Given the description of an element on the screen output the (x, y) to click on. 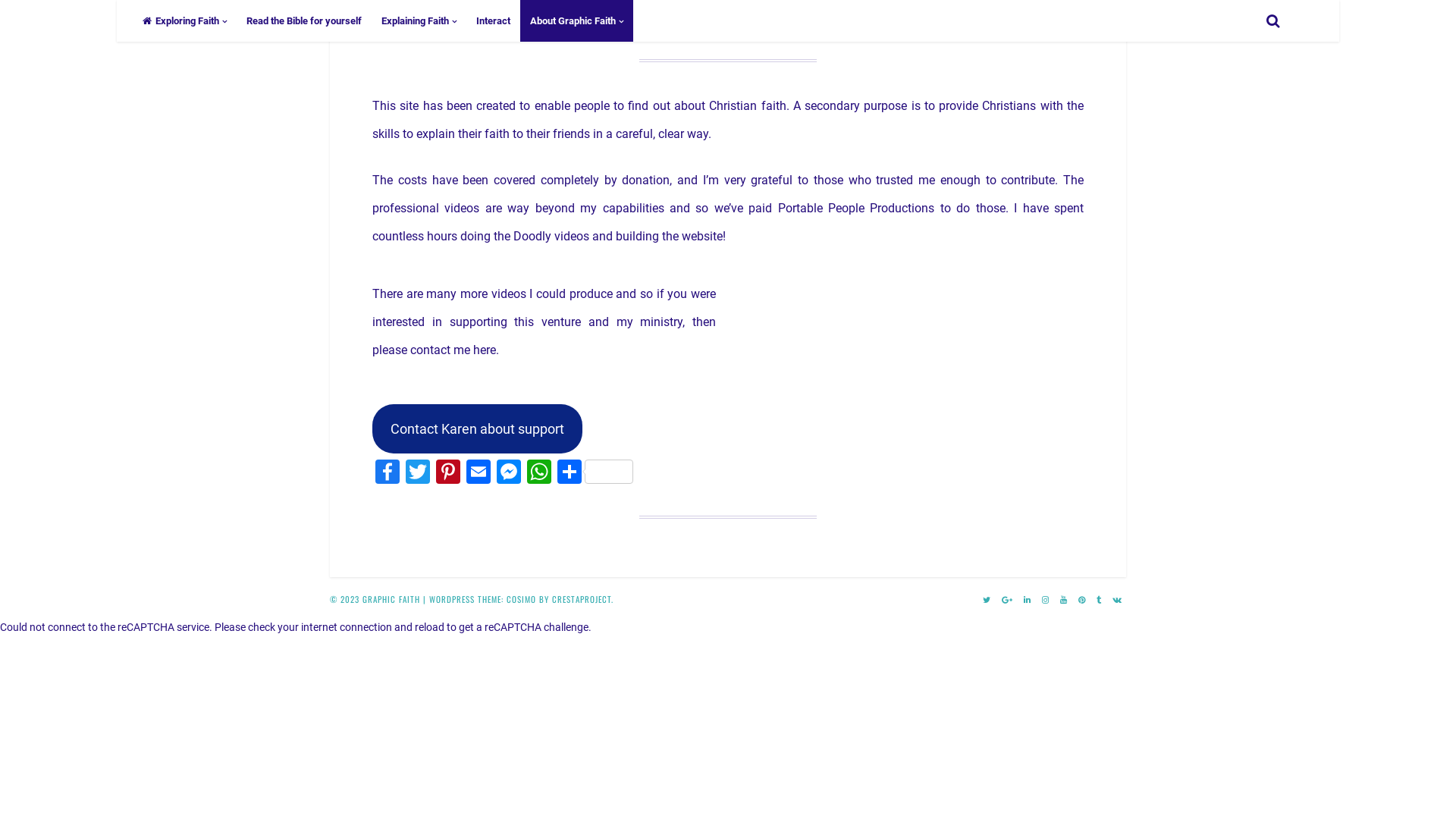
Explaining Faith Element type: text (418, 20)
YOUTUBE Element type: text (1063, 599)
PINTEREST Element type: text (1081, 599)
Exploring Faith Element type: text (184, 20)
INSTAGRAM Element type: text (1045, 599)
Messenger Element type: text (508, 473)
Twitter Element type: text (417, 473)
VK Element type: text (1117, 599)
Interact Element type: text (493, 20)
LINKEDIN Element type: text (1027, 599)
About Graphic Faith Element type: text (576, 20)
Facebook Element type: text (387, 473)
Skip to content Element type: text (0, 0)
TWITTER Element type: text (986, 599)
Email Element type: text (478, 473)
Pinterest Element type: text (448, 473)
Read the Bible for yourself Element type: text (303, 20)
WhatsApp Element type: text (539, 473)
GOOGLE PLUS Element type: text (1006, 599)
TUMBLR Element type: text (1098, 599)
Share Element type: text (595, 473)
Contact Karen about support Element type: text (477, 428)
COSIMO Element type: text (521, 599)
